Given the description of an element on the screen output the (x, y) to click on. 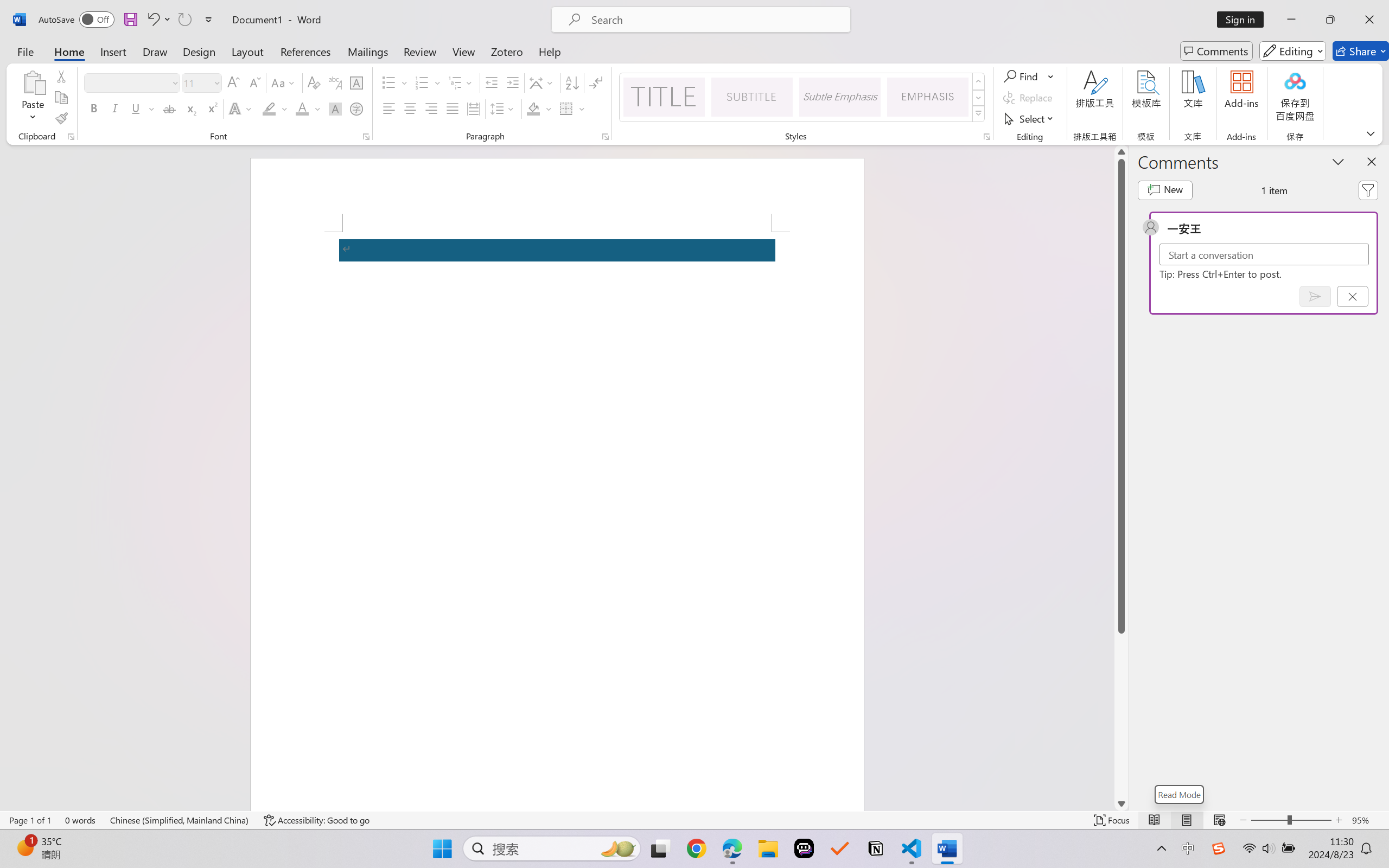
Cancel (1352, 296)
Start a conversation (1263, 254)
